Given the description of an element on the screen output the (x, y) to click on. 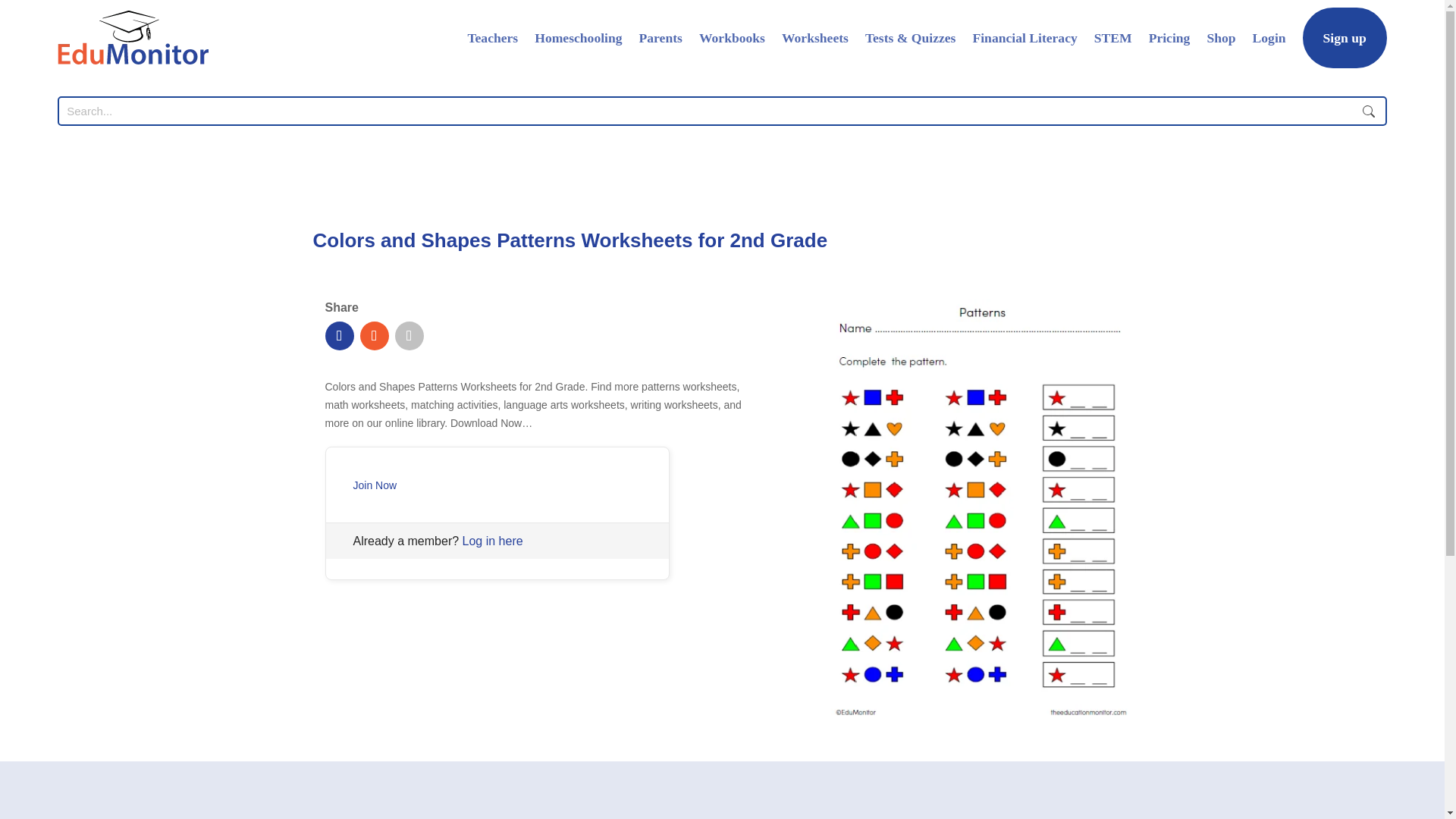
Sign up (1345, 37)
Follow on Facebook (338, 335)
Search for: (707, 110)
Log in here (492, 540)
Workbooks (731, 37)
Worksheets (814, 37)
Follow on X (373, 335)
Homeschooling (577, 37)
Submit (1369, 110)
Join Now (375, 485)
Follow on Pinterest (408, 335)
Financial Literacy (1024, 37)
